Given the description of an element on the screen output the (x, y) to click on. 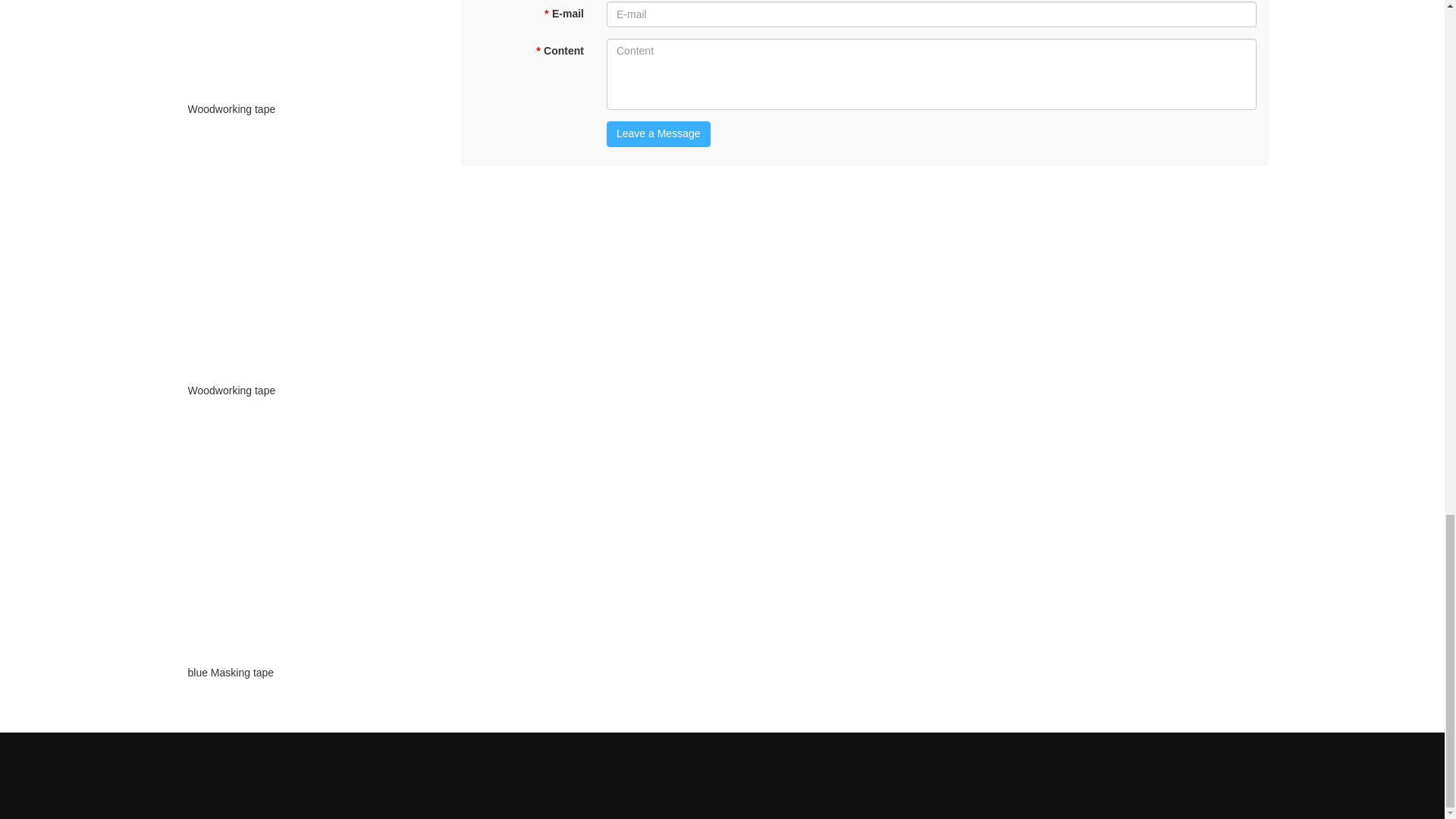
blue Masking tape (306, 672)
Woodworking tape (306, 108)
Woodworking tape (306, 390)
